Given the description of an element on the screen output the (x, y) to click on. 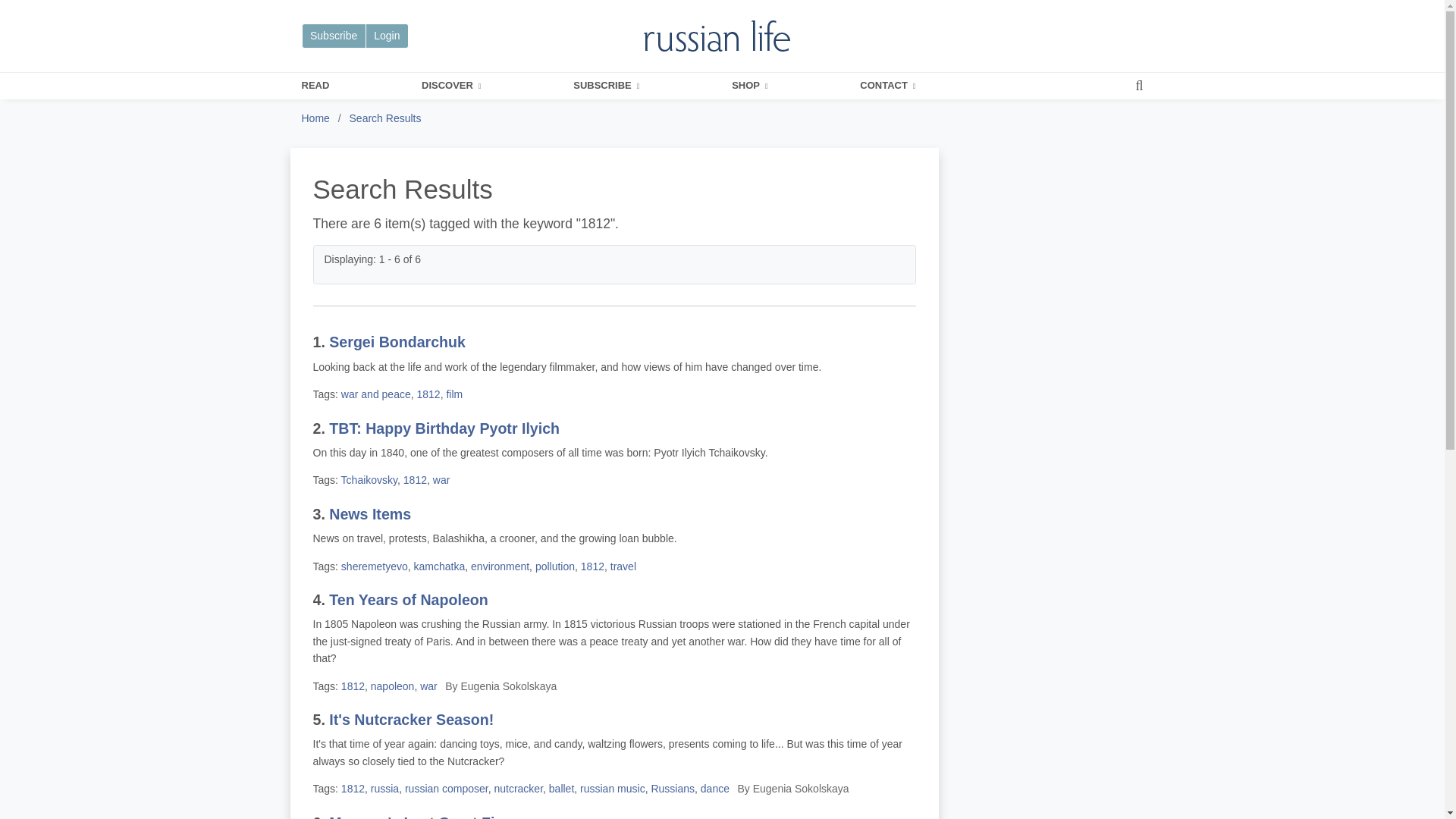
SUBSCRIBE (606, 85)
Search Results (385, 118)
Login (387, 36)
SHOP (749, 85)
war and peace (375, 394)
Home (315, 118)
READ (315, 85)
CONTACT (887, 85)
Sergei Bondarchuk (397, 341)
DISCOVER (451, 85)
